Given the description of an element on the screen output the (x, y) to click on. 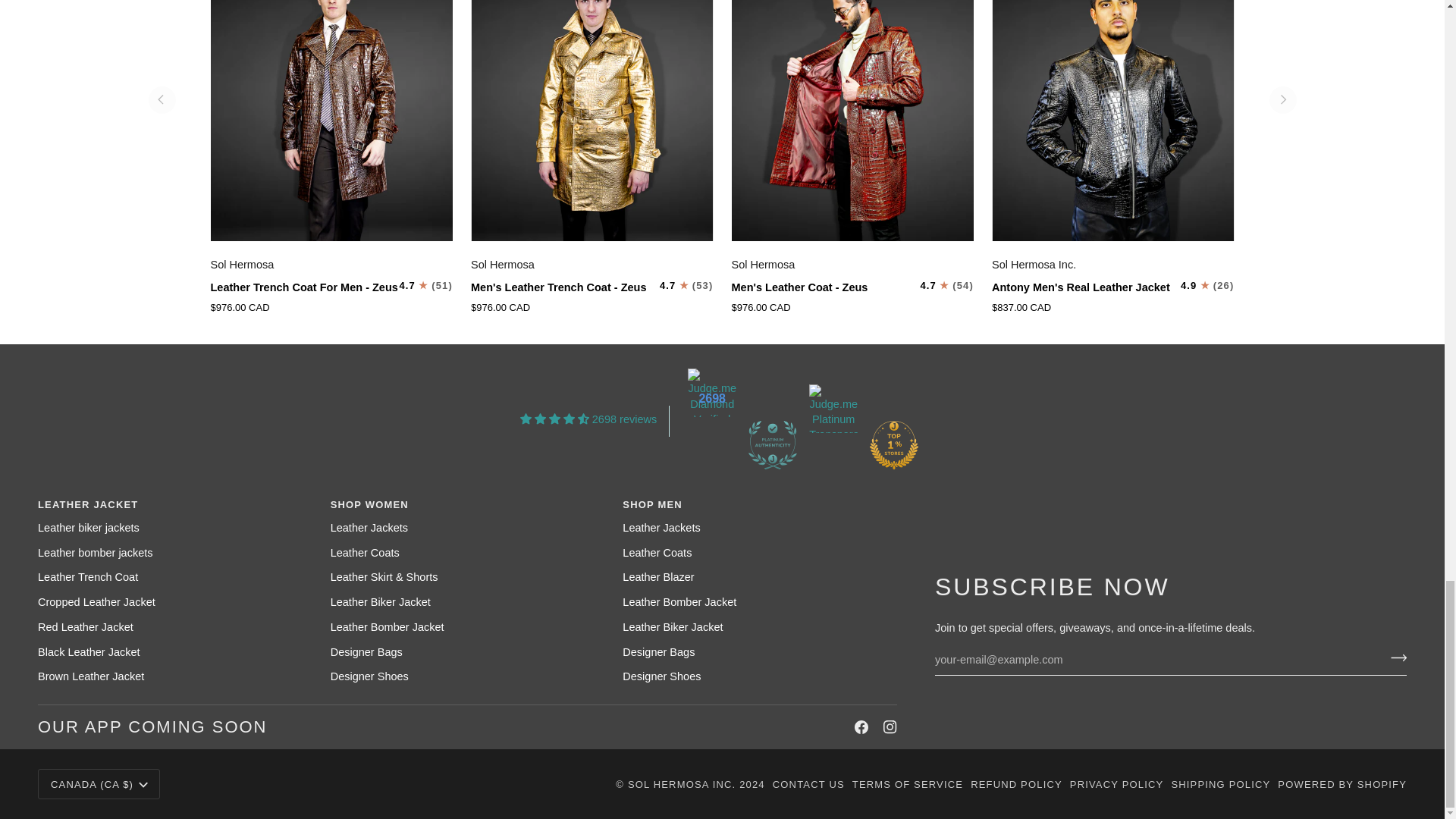
Instagram (889, 726)
Facebook (860, 726)
